Given the description of an element on the screen output the (x, y) to click on. 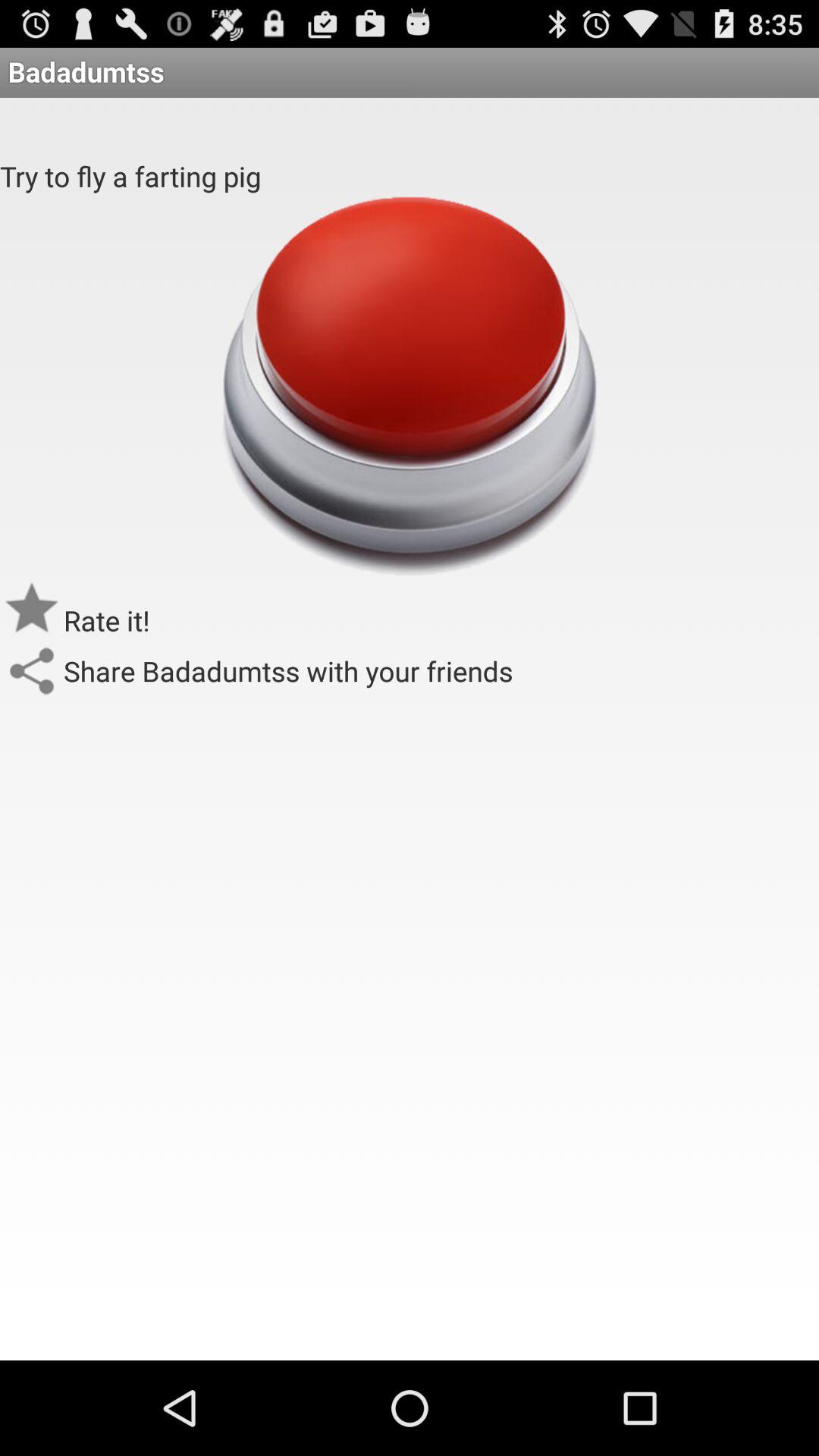
jump until try to fly (130, 176)
